Given the description of an element on the screen output the (x, y) to click on. 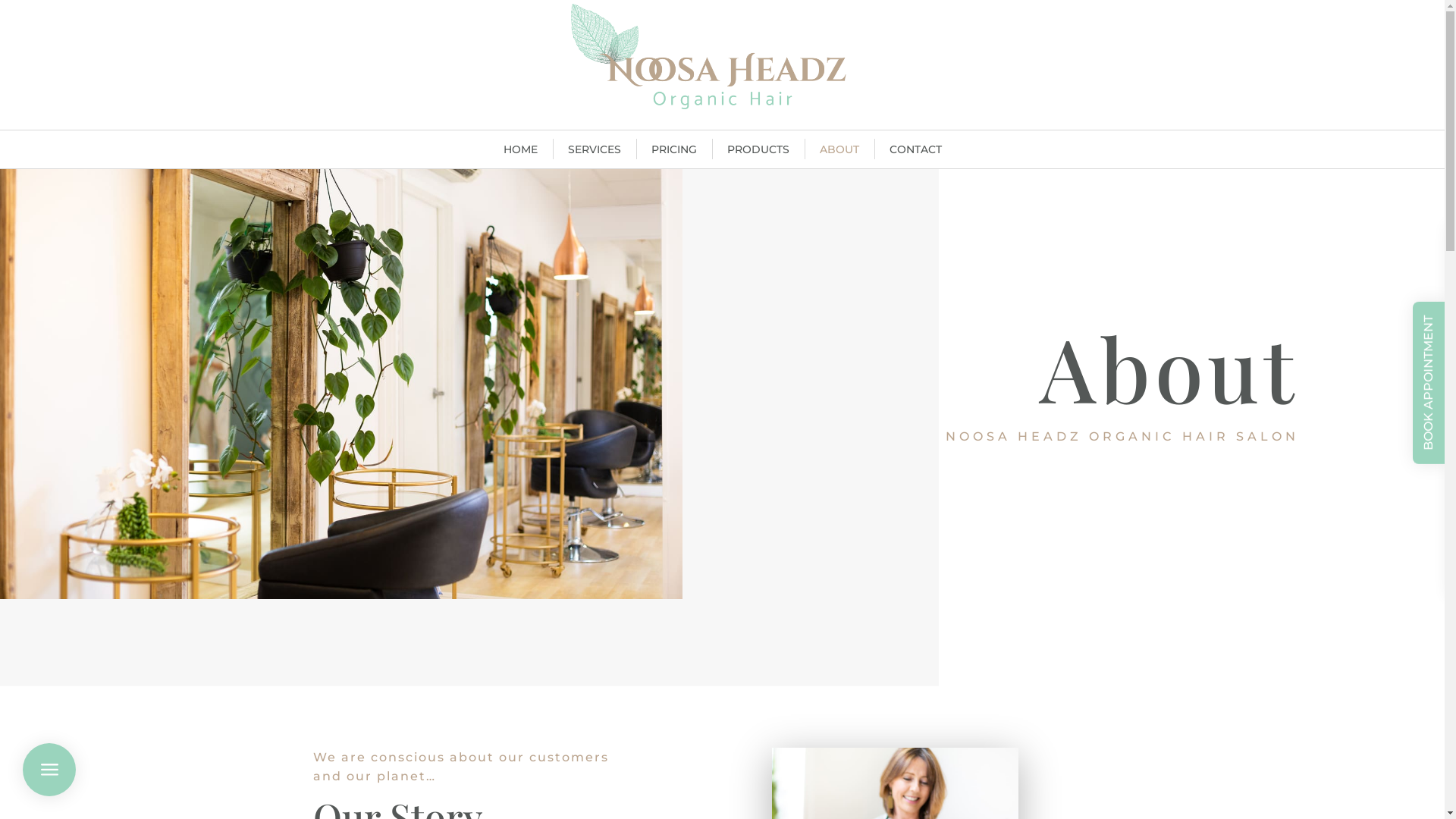
HOME Element type: text (520, 149)
CONTACT Element type: text (914, 149)
PRODUCTS Element type: text (757, 149)
ABOUT Element type: text (838, 149)
SERVICES Element type: text (593, 149)
PRICING Element type: text (673, 149)
Noosa Headz Logo Element type: hover (721, 56)
